Given the description of an element on the screen output the (x, y) to click on. 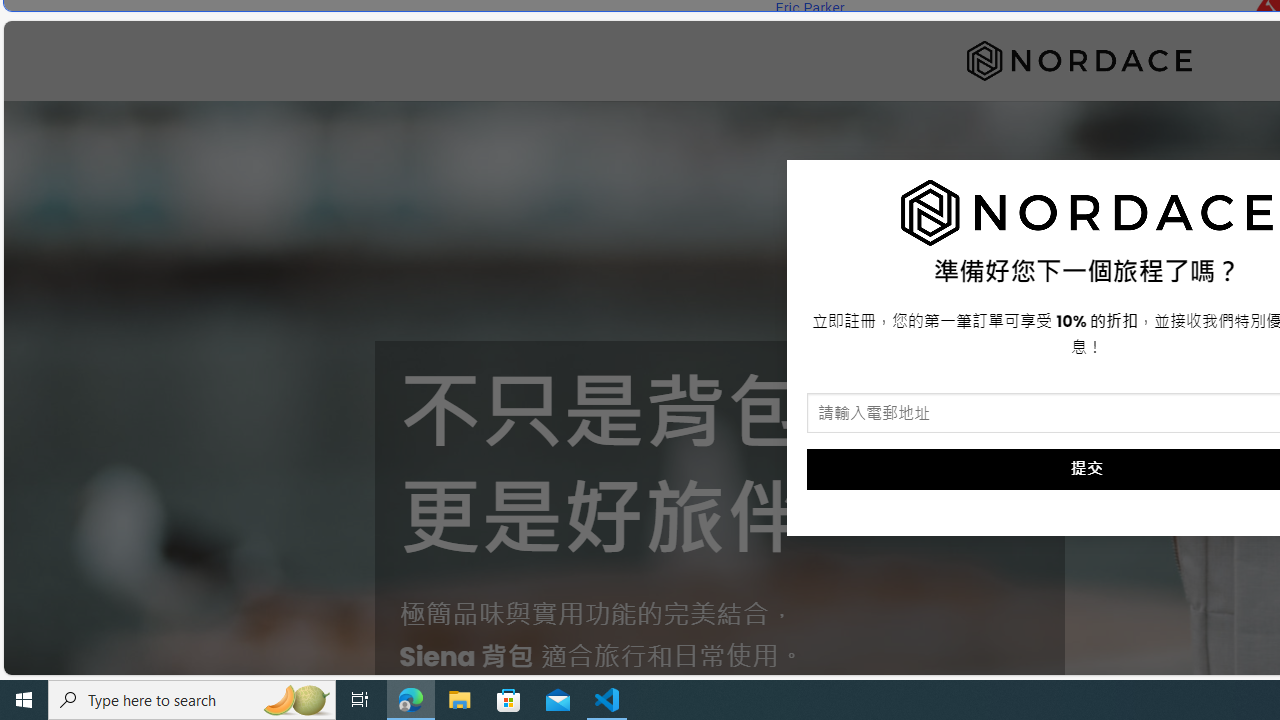
Type here to search (191, 699)
Eric Parker (809, 8)
File Explorer (460, 699)
Search highlights icon opens search home window (295, 699)
To get missing image descriptions, open the context menu. (1087, 213)
Visual Studio Code - 1 running window (607, 699)
Task View (359, 699)
Microsoft Store (509, 699)
Start (24, 699)
Nordace (1079, 60)
Microsoft Edge - 1 running window (411, 699)
